Given the description of an element on the screen output the (x, y) to click on. 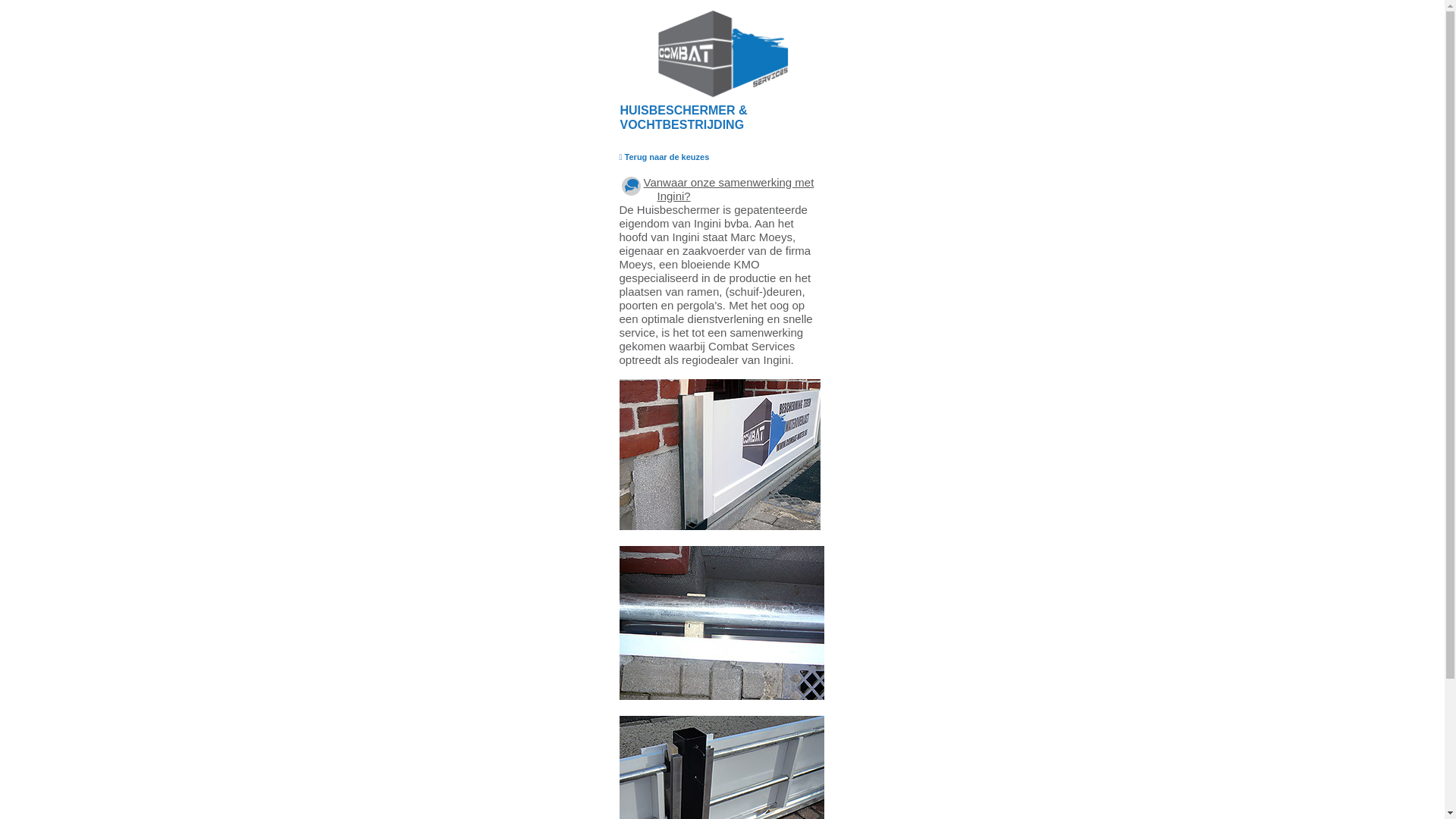
Terug naar de keuzes Element type: text (666, 156)
firma Moeys Element type: text (714, 257)
Ingini bvba Element type: text (721, 223)
Ingini Element type: text (685, 237)
